Given the description of an element on the screen output the (x, y) to click on. 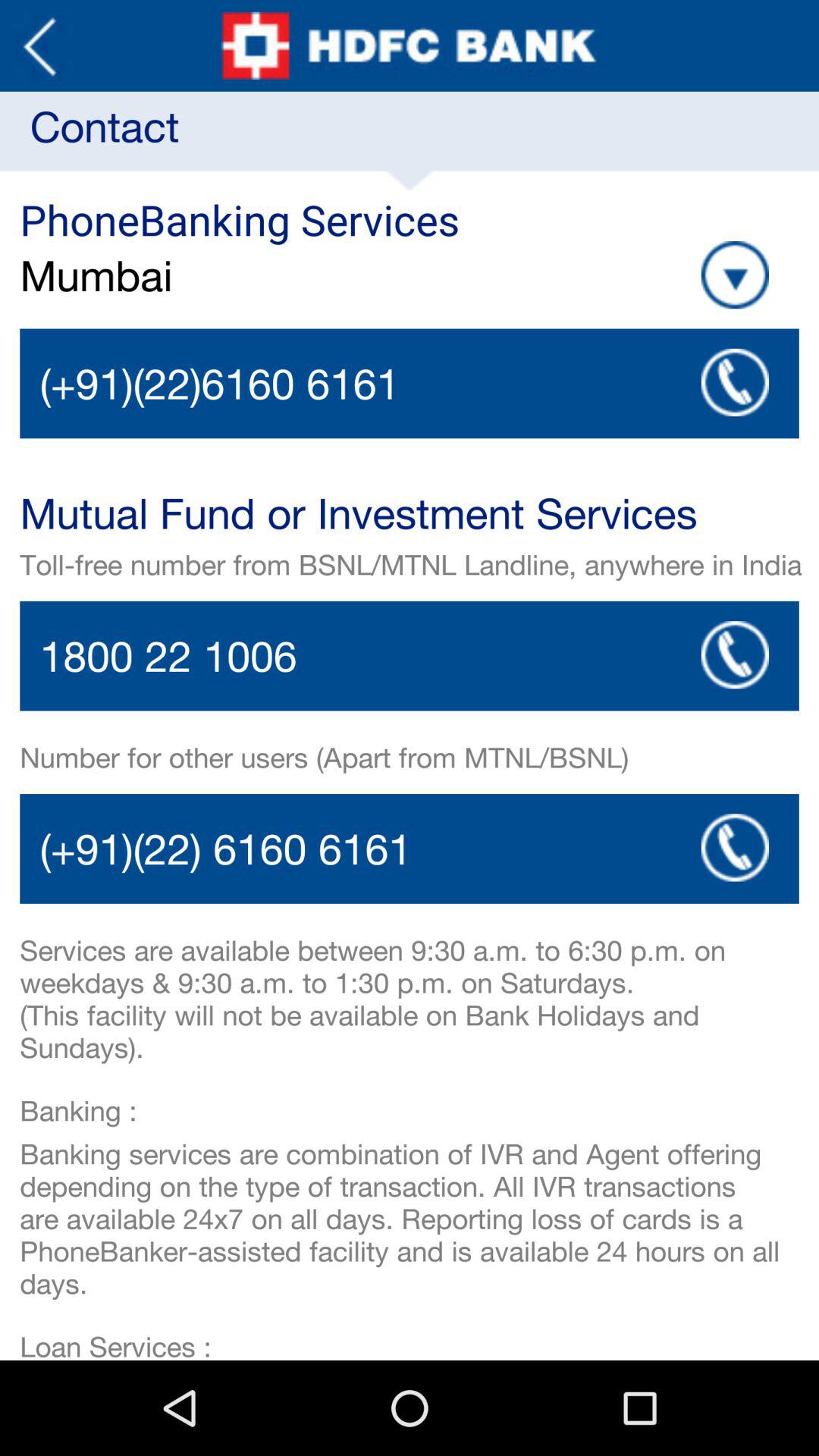
click item above the contact (39, 45)
